Given the description of an element on the screen output the (x, y) to click on. 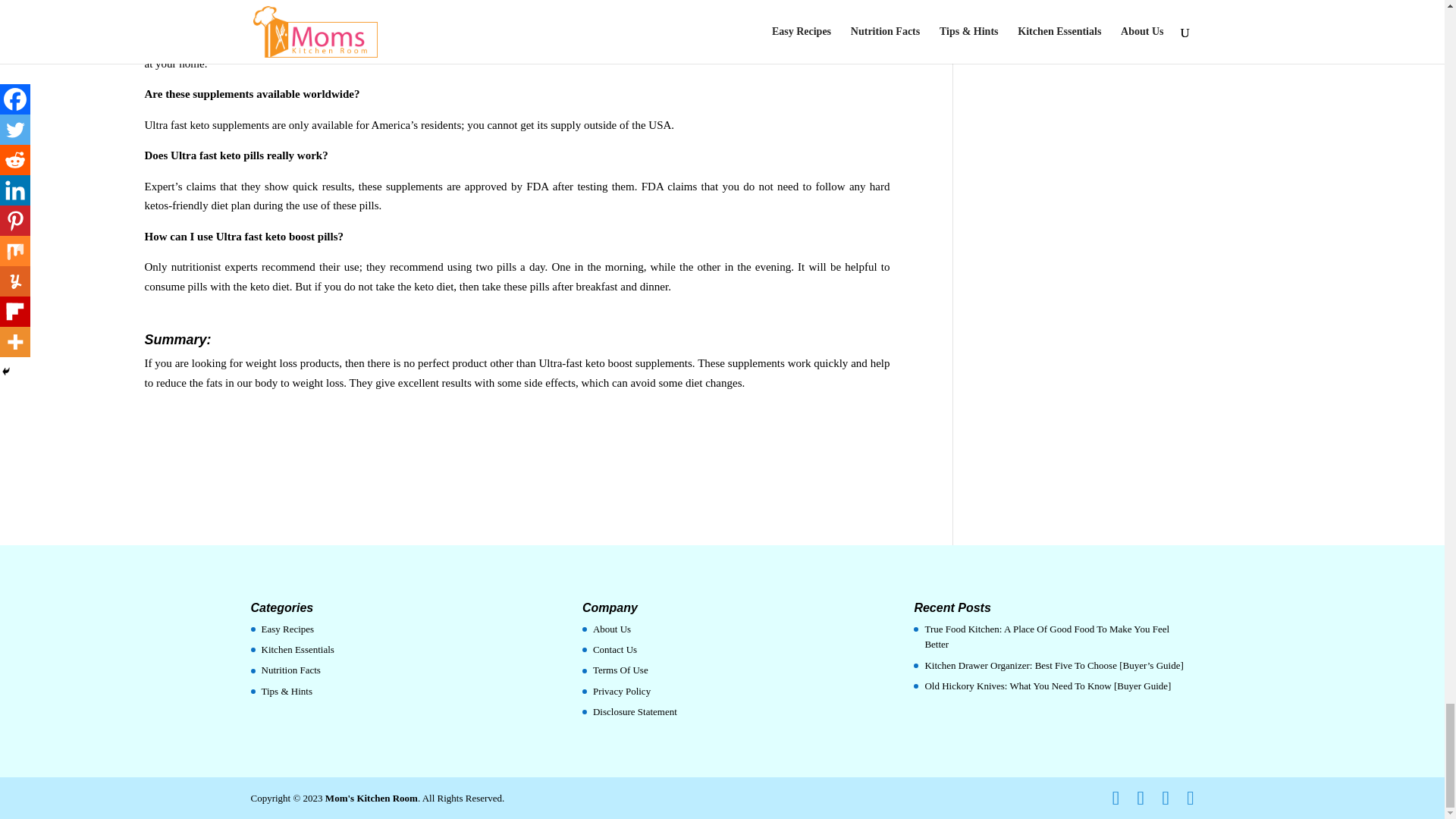
Easy Recipes (287, 628)
Nutrition Facts (290, 669)
Kitchen Essentials (296, 649)
About Us (611, 628)
